Given the description of an element on the screen output the (x, y) to click on. 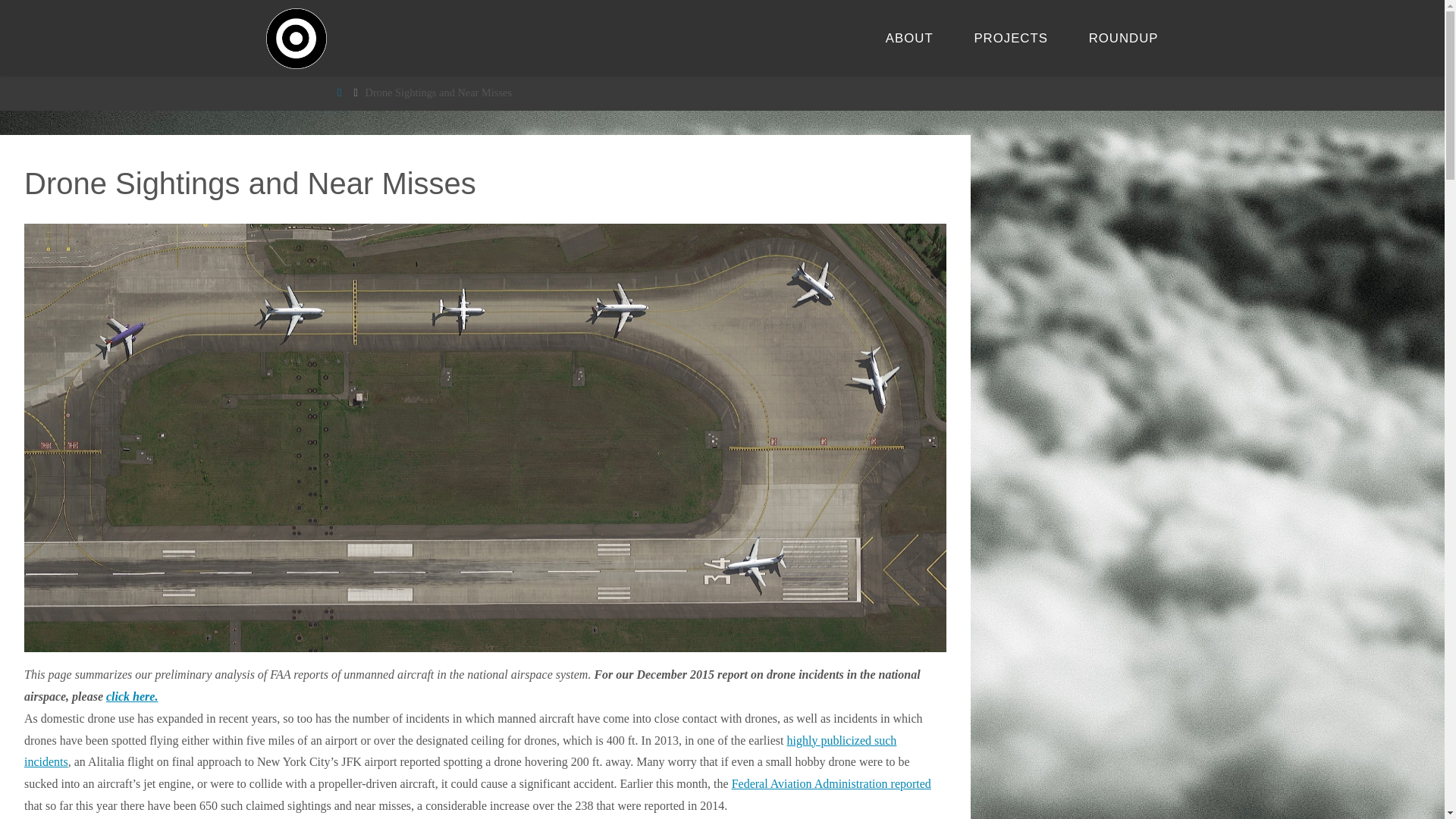
Federal Aviation Administration reported (831, 783)
highly publicized such incidents (460, 751)
ABOUT (908, 38)
PROJECTS (1010, 38)
About the Drone Center (908, 38)
ROUNDUP (1123, 38)
click here. (131, 696)
